Given the description of an element on the screen output the (x, y) to click on. 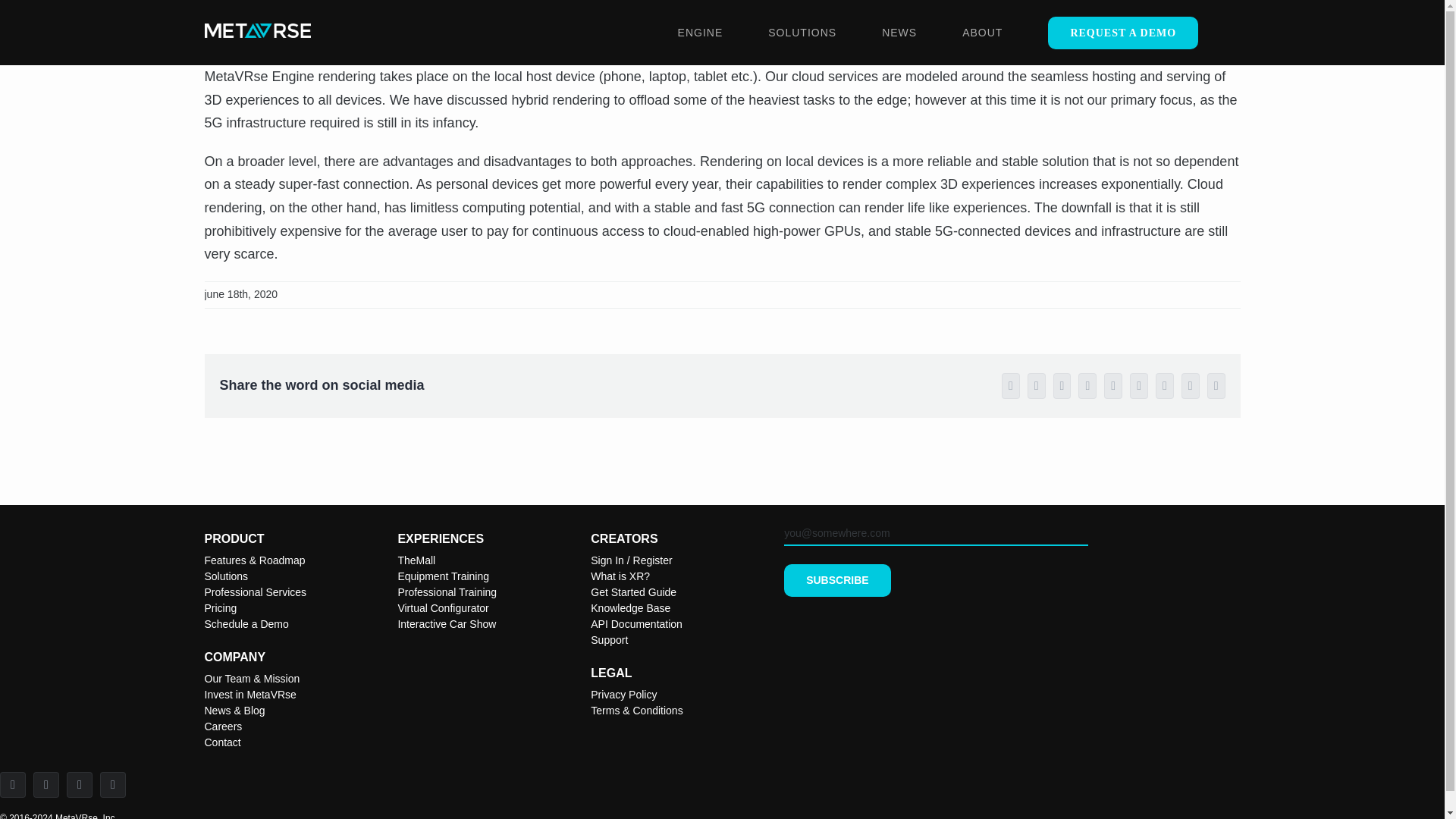
TheMall (416, 560)
REQUEST A DEMO (1123, 32)
Schedule a Demo (246, 623)
Twitter (13, 784)
Get Started Guide (634, 592)
API Documentation (636, 623)
Professional Training (446, 592)
LinkedIn (46, 784)
Knowledge Base (630, 607)
